Given the description of an element on the screen output the (x, y) to click on. 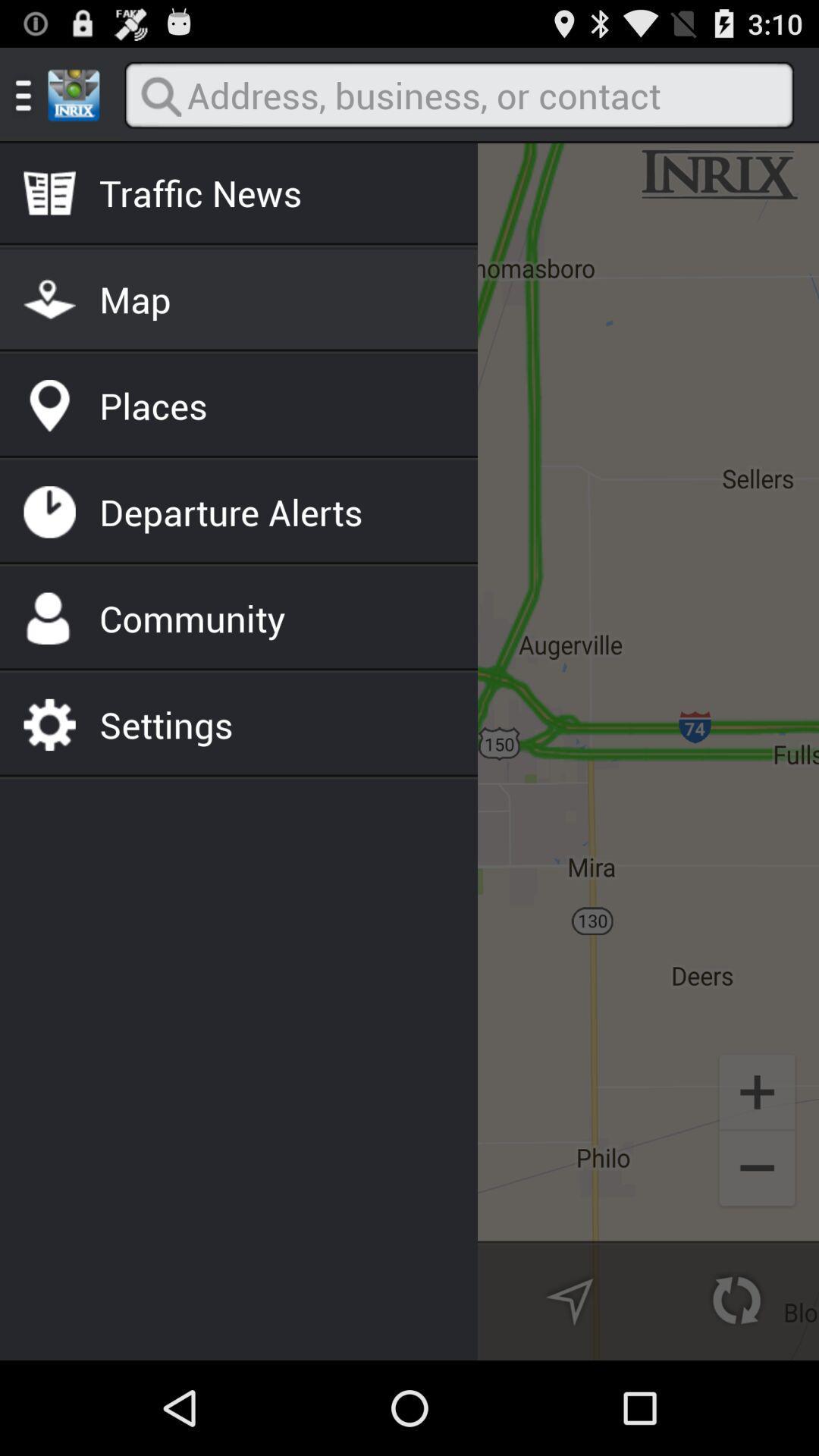
swipe until the community (192, 618)
